Given the description of an element on the screen output the (x, y) to click on. 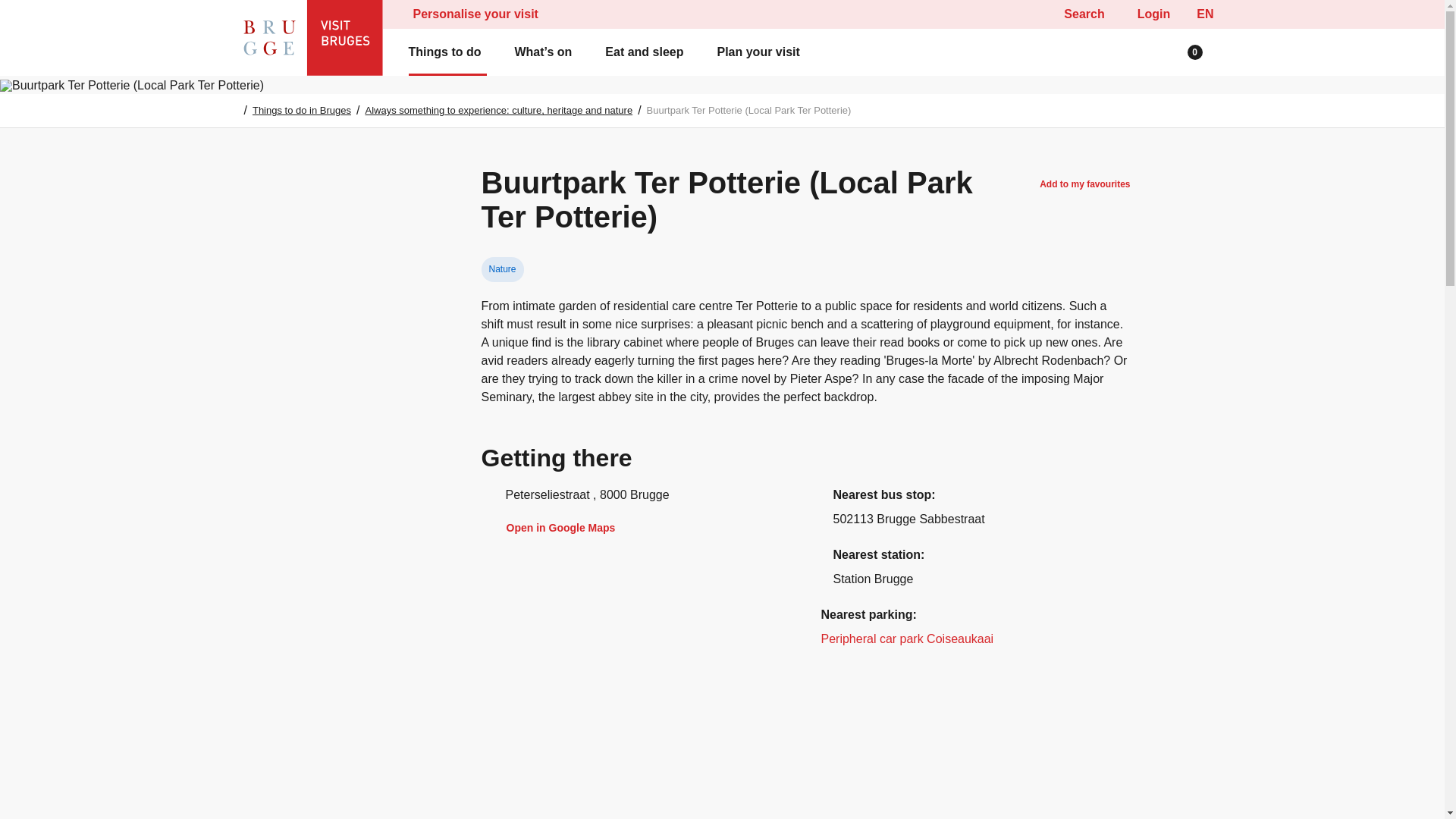
Search (1074, 14)
Things to do (446, 52)
Skip to main content (722, 14)
Eat and sleep (646, 52)
Personalise your visit (477, 14)
Login (1150, 14)
Search (44, 17)
